Given the description of an element on the screen output the (x, y) to click on. 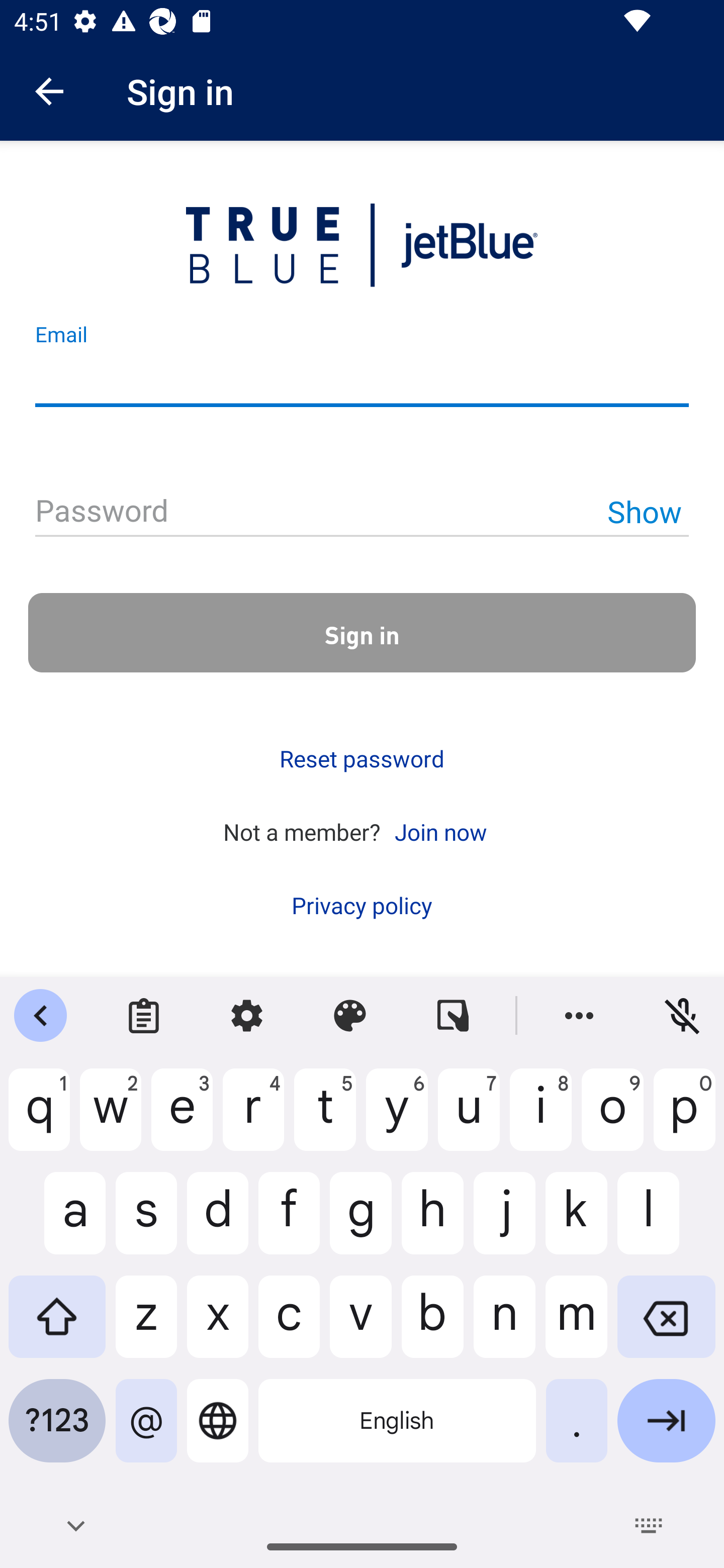
Navigate up (49, 91)
Email (361, 379)
Password (361, 511)
Show (643, 510)
Sign in (361, 632)
Reset password (361, 758)
Join now (440, 831)
Privacy policy (361, 904)
